Given the description of an element on the screen output the (x, y) to click on. 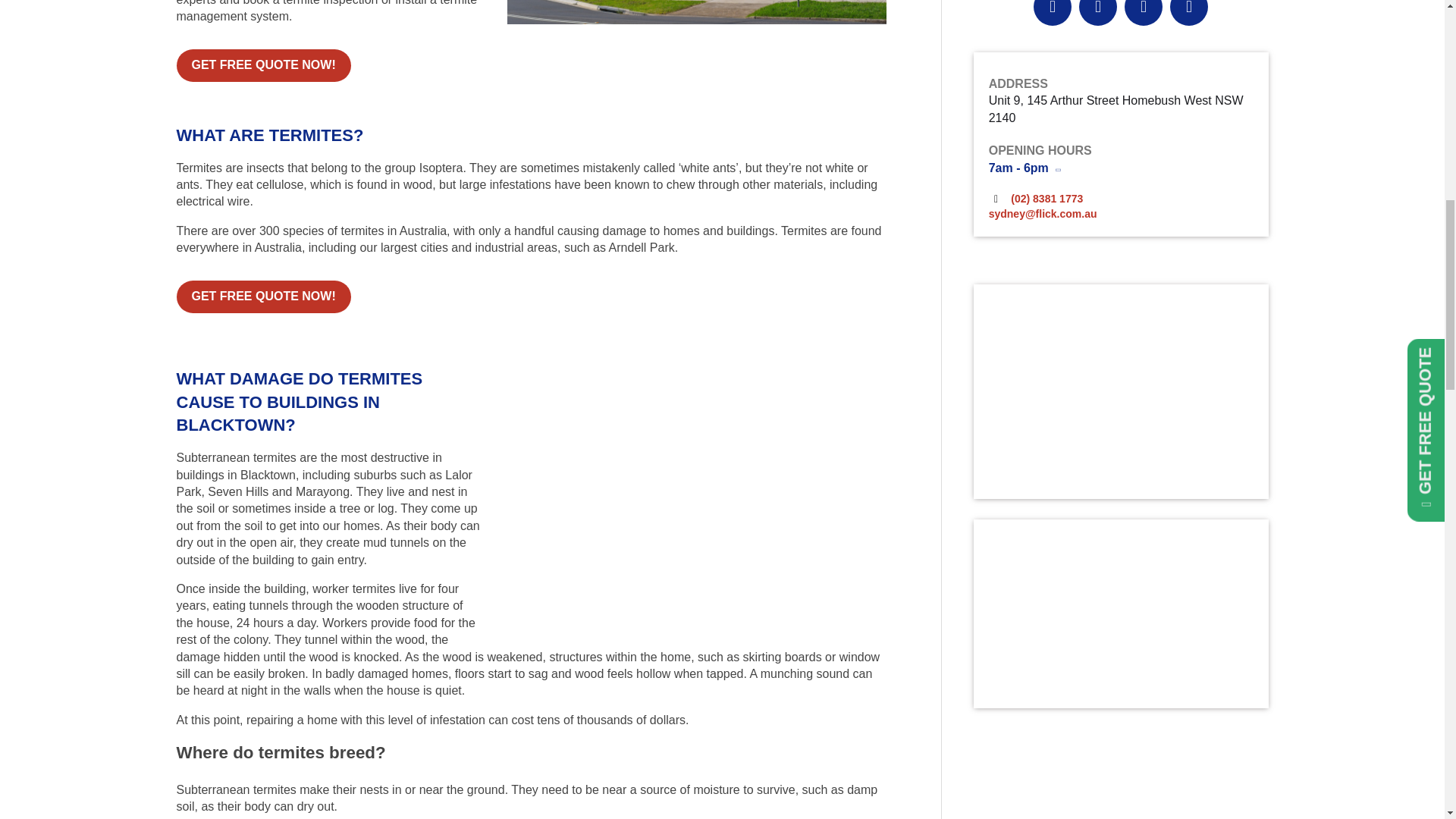
Protect Your Home With Flick (1121, 391)
Flick Pest Control LinkedIn (1189, 9)
Flick Pest Control Instagram (1097, 9)
SMART Digital Pest Control for your home or business (1121, 613)
Flick Pest Control Facebook (1052, 9)
Flick Pest Control Youtube (1144, 9)
